Given the description of an element on the screen output the (x, y) to click on. 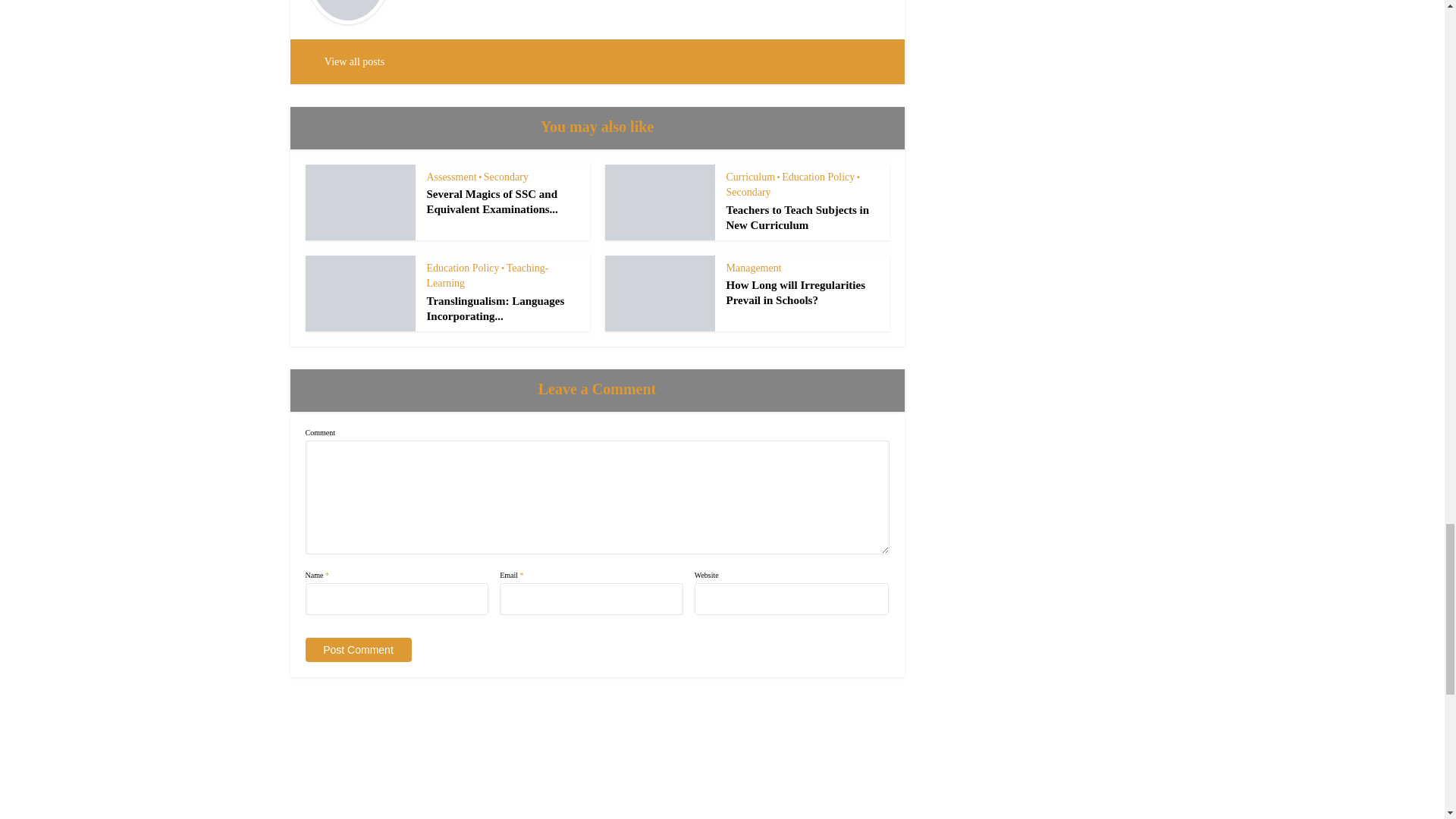
Post Comment (357, 649)
Translingualism: Languages Incorporating Differences (495, 308)
Teachers to Teach Subjects in New Curriculum (797, 216)
